Given the description of an element on the screen output the (x, y) to click on. 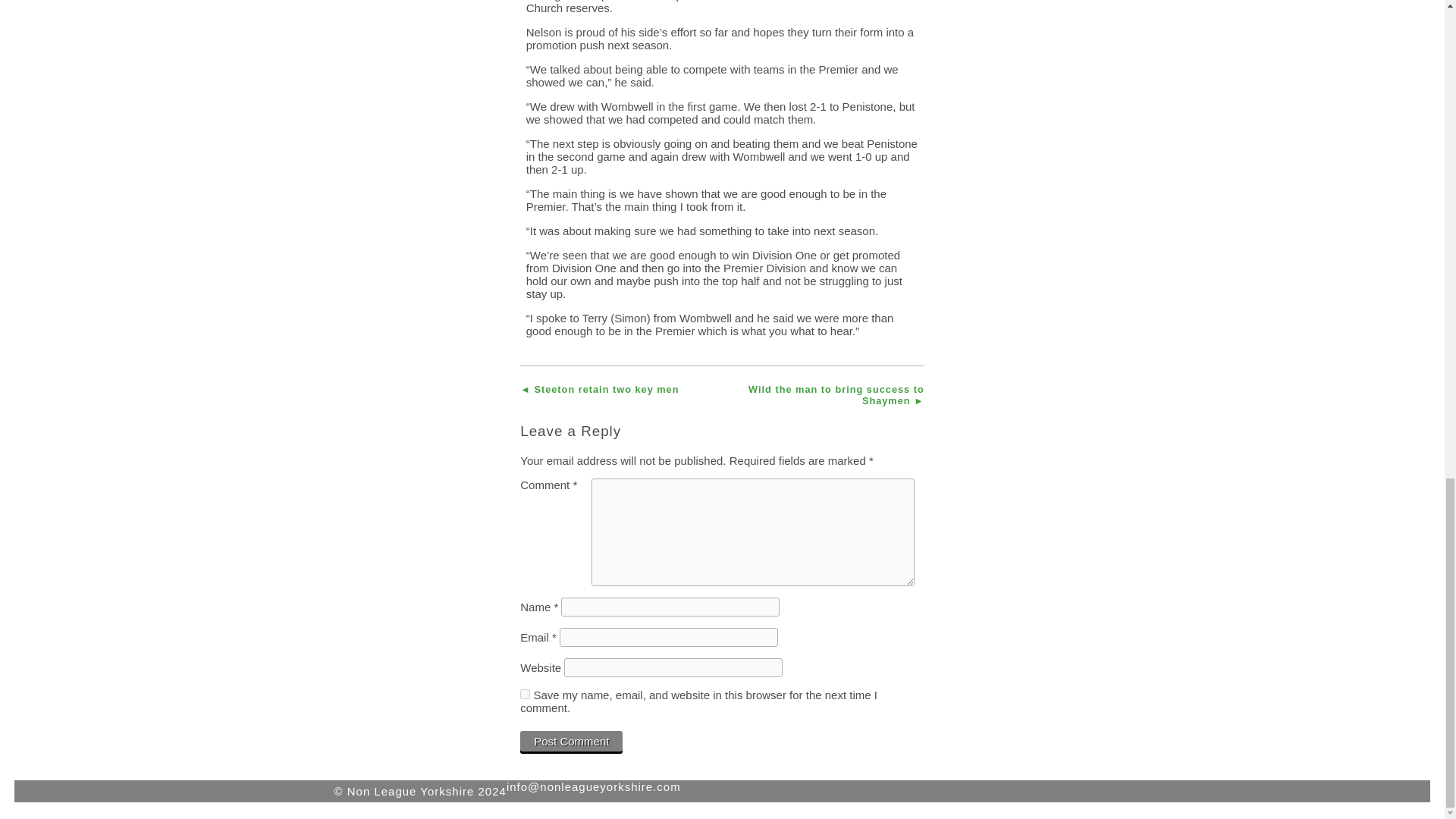
Post Comment (571, 741)
yes (524, 694)
Post Comment (571, 741)
